Given the description of an element on the screen output the (x, y) to click on. 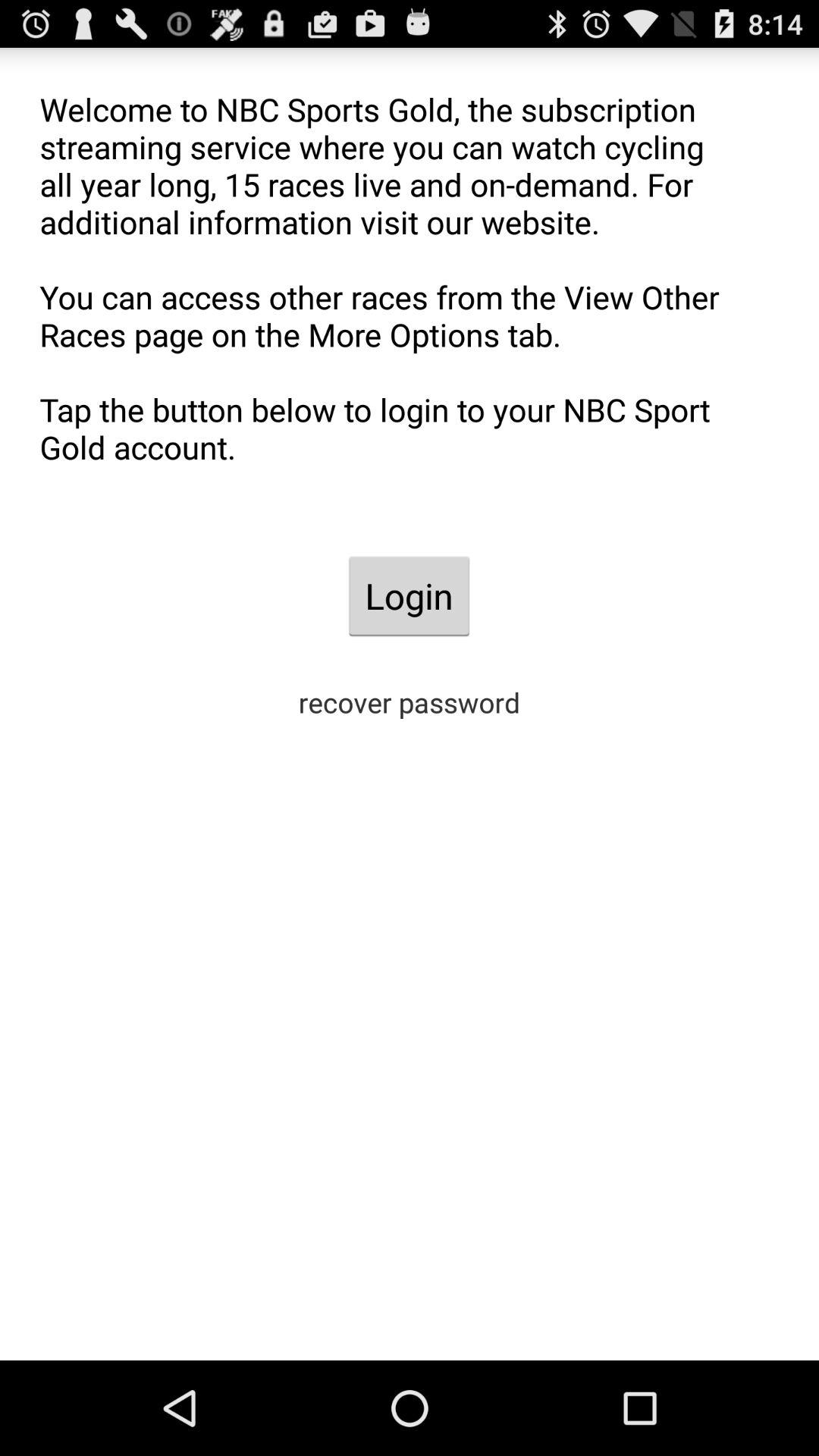
turn on the icon above the recover password icon (409, 595)
